Given the description of an element on the screen output the (x, y) to click on. 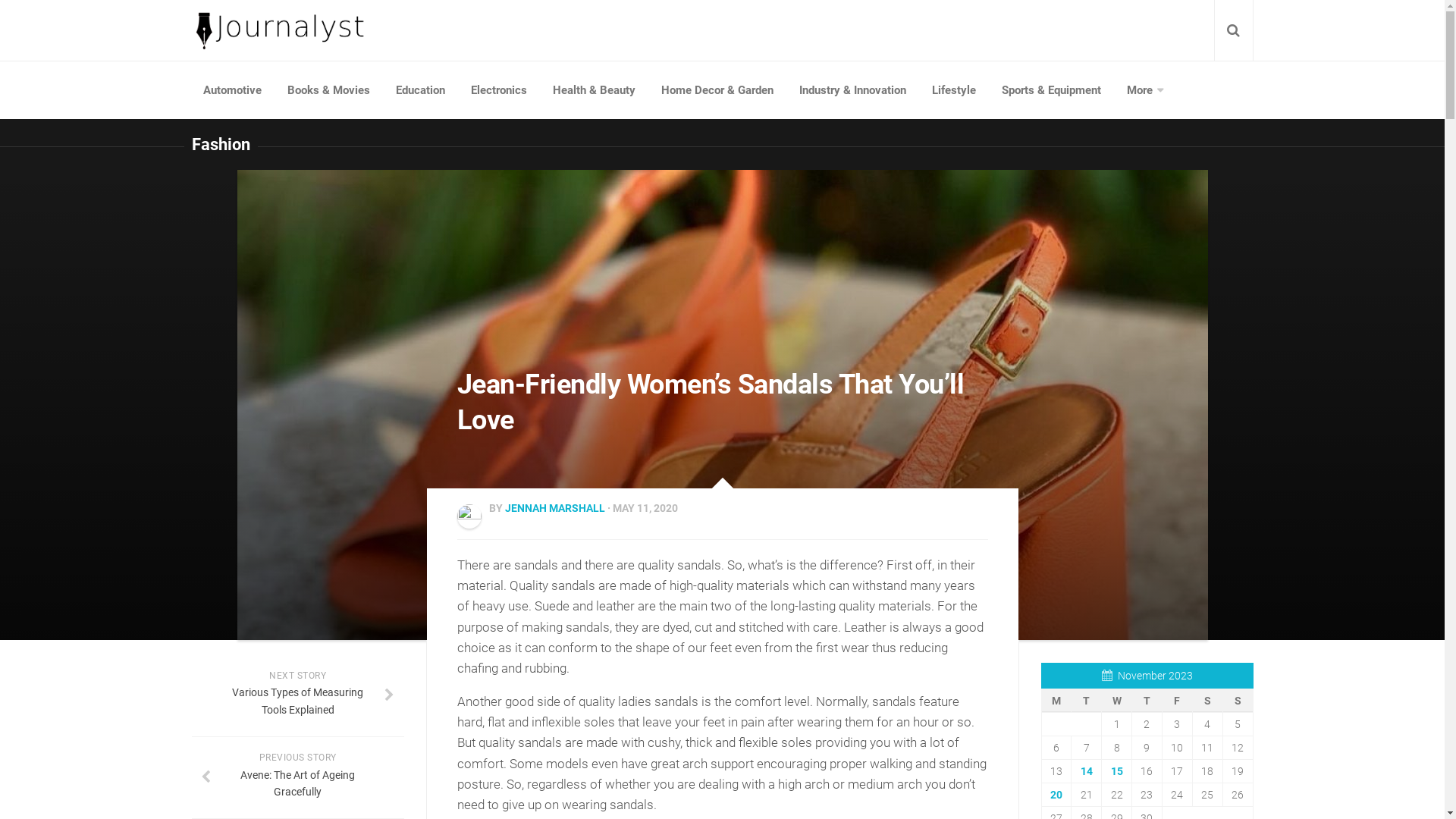
More Element type: text (1143, 89)
Lifestyle Element type: text (953, 89)
Sports & Equipment Element type: text (1051, 89)
Education Element type: text (419, 89)
Electronics Element type: text (498, 89)
Industry & Innovation Element type: text (851, 89)
Home Decor & Garden Element type: text (716, 89)
JENNAH MARSHALL Element type: text (555, 508)
15 Element type: text (1116, 771)
20 Element type: text (1056, 794)
NEXT STORY
Various Types of Measuring Tools Explained Element type: text (297, 696)
Fashion Element type: text (220, 143)
Automotive Element type: text (231, 89)
14 Element type: text (1086, 771)
Books & Movies Element type: text (328, 89)
Health & Beauty Element type: text (593, 89)
